Given the description of an element on the screen output the (x, y) to click on. 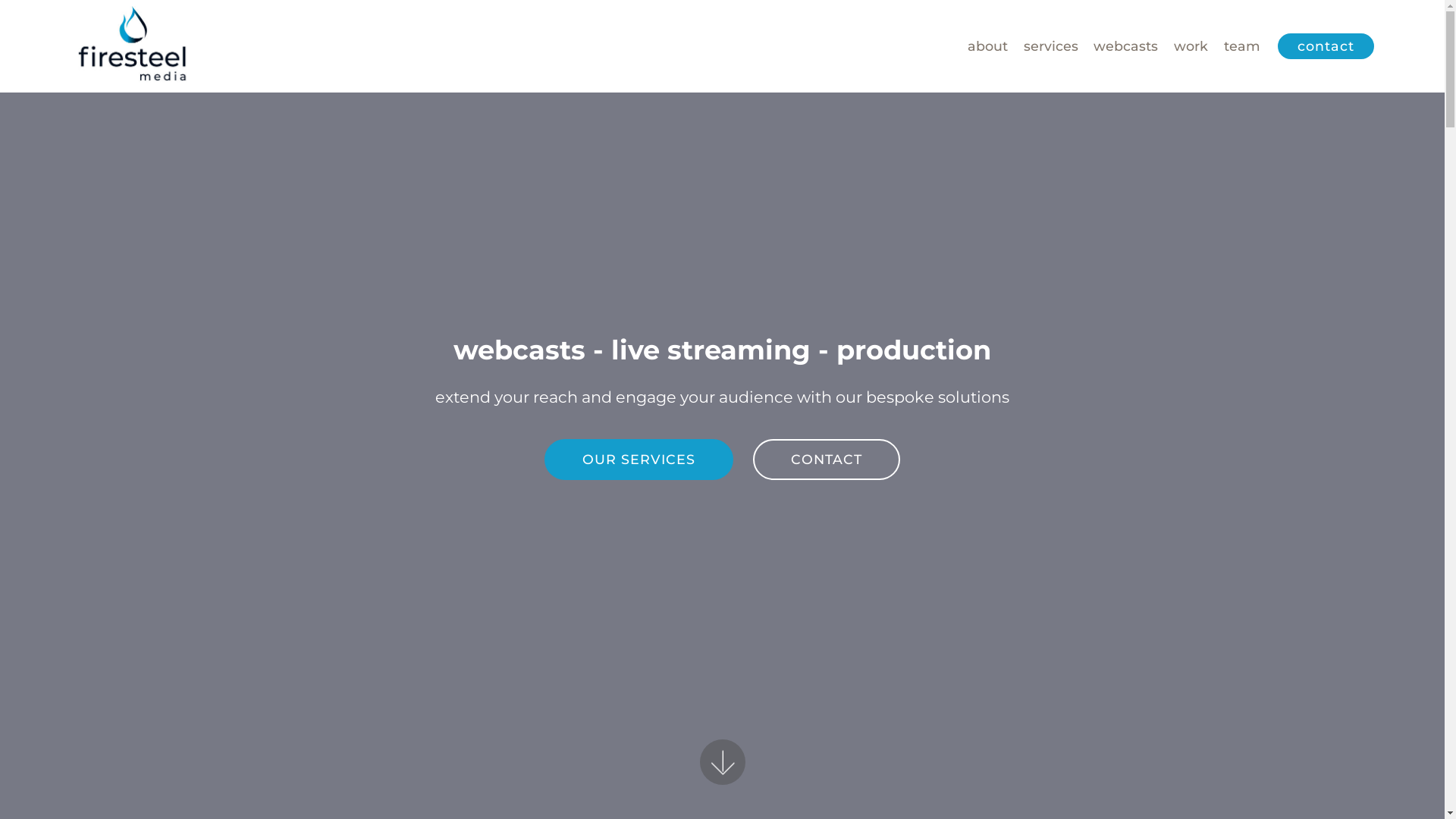
work Element type: text (1190, 46)
contact Element type: text (1325, 46)
CONTACT Element type: text (826, 459)
OUR SERVICES Element type: text (638, 459)
conal@firesteel.com.au Element type: text (594, 647)
webcasts Element type: text (1125, 46)
about Element type: text (987, 46)
services Element type: text (1050, 46)
Firesteel Media | Webcasts - Live Streaming Element type: hover (132, 46)
tamlyn@firesteel.com.au Element type: text (810, 647)
team Element type: text (1241, 46)
